Given the description of an element on the screen output the (x, y) to click on. 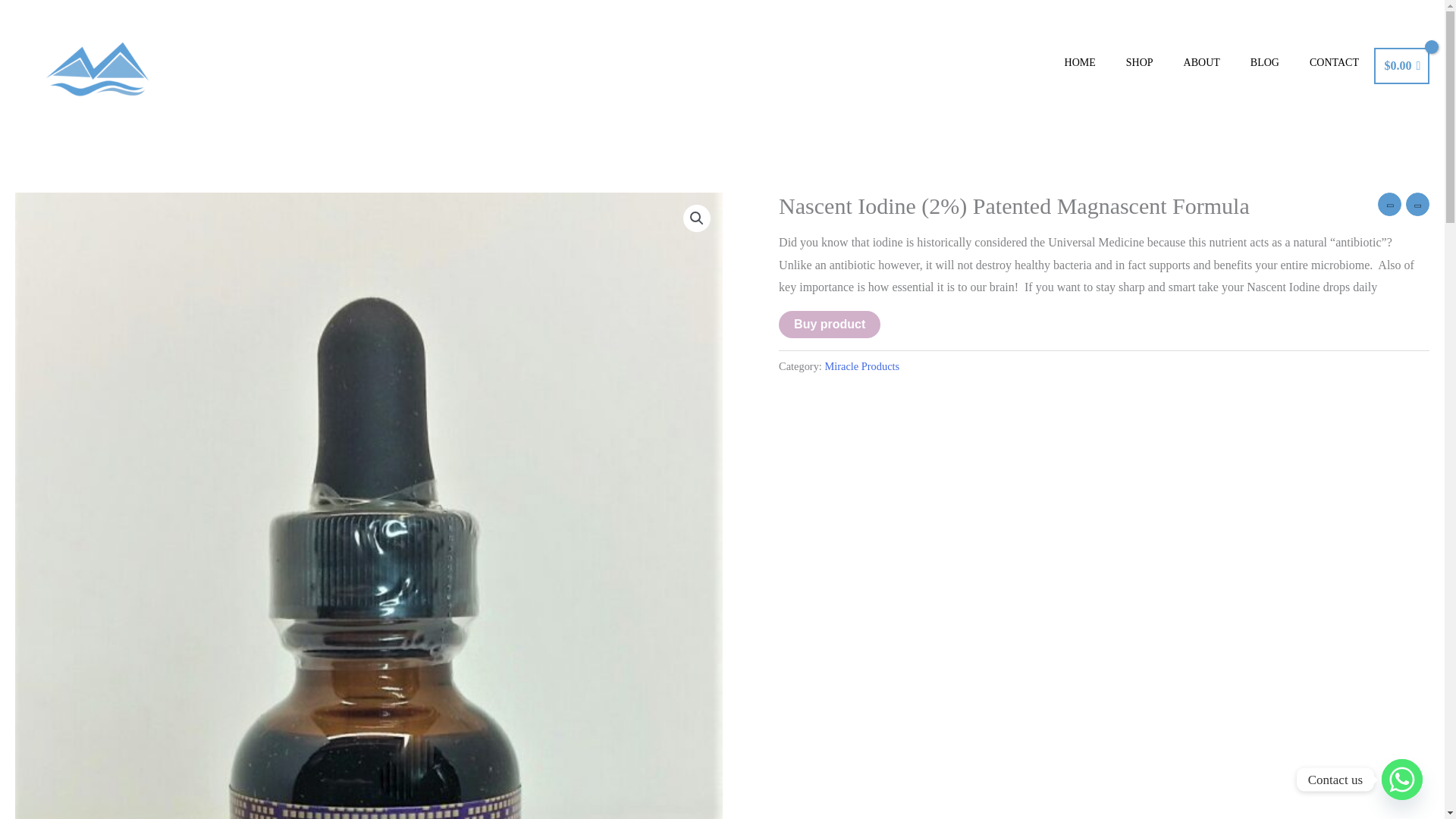
Miracle Products (861, 366)
HOME (1079, 62)
ABOUT (1201, 62)
SHOP (1139, 62)
CONTACT (1334, 62)
Buy product (829, 324)
BLOG (1264, 62)
